Given the description of an element on the screen output the (x, y) to click on. 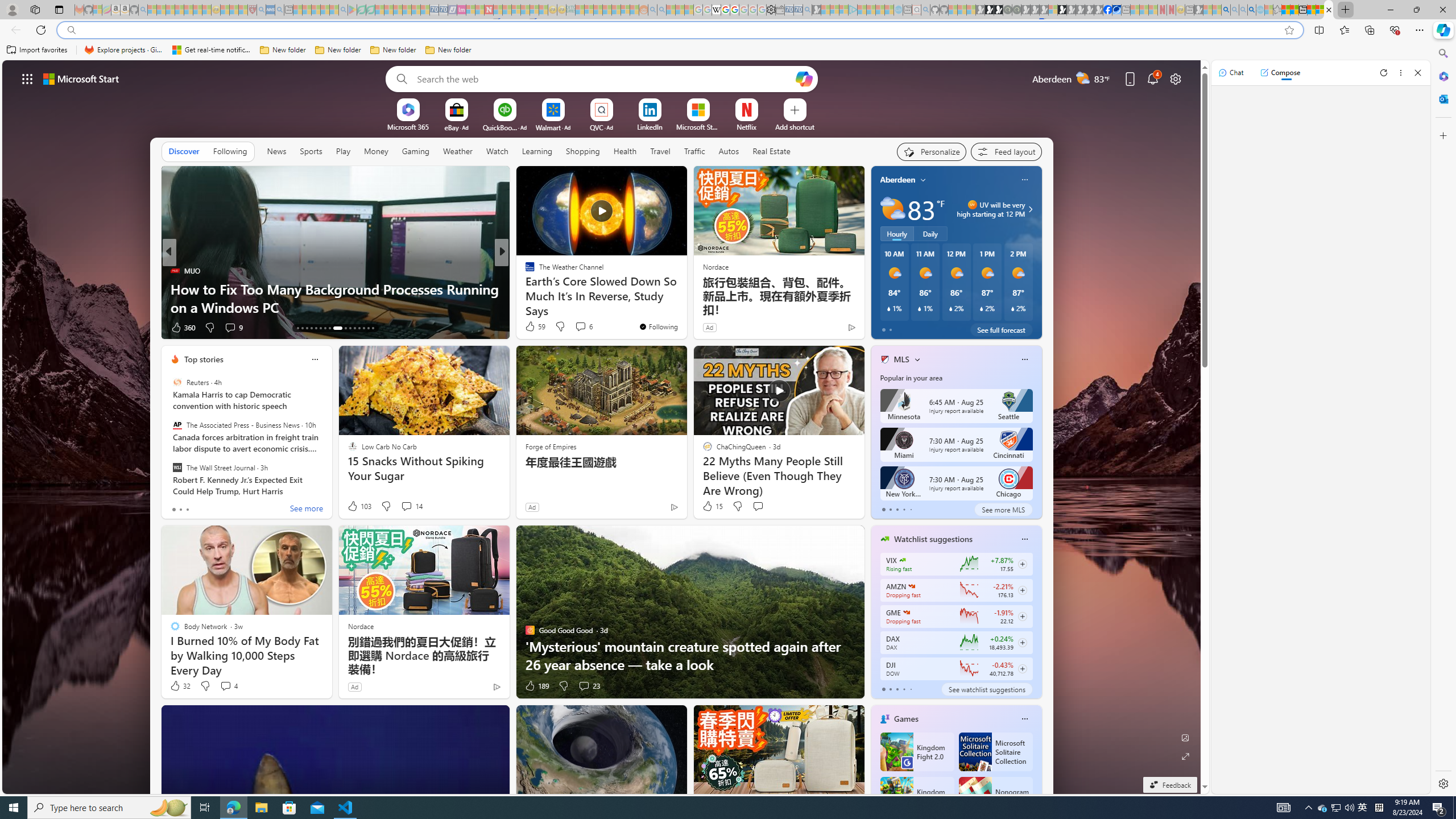
View comments 2 Comment (580, 327)
Edit Background (1185, 737)
Watch (497, 151)
AutomationID: backgroundImagePicture (601, 426)
Class: follow-button  m (1021, 668)
Travel (660, 151)
Add a site (793, 126)
Chat (1230, 72)
Local - MSN - Sleeping (242, 9)
Games (905, 718)
Aberdeen (897, 179)
